Given the description of an element on the screen output the (x, y) to click on. 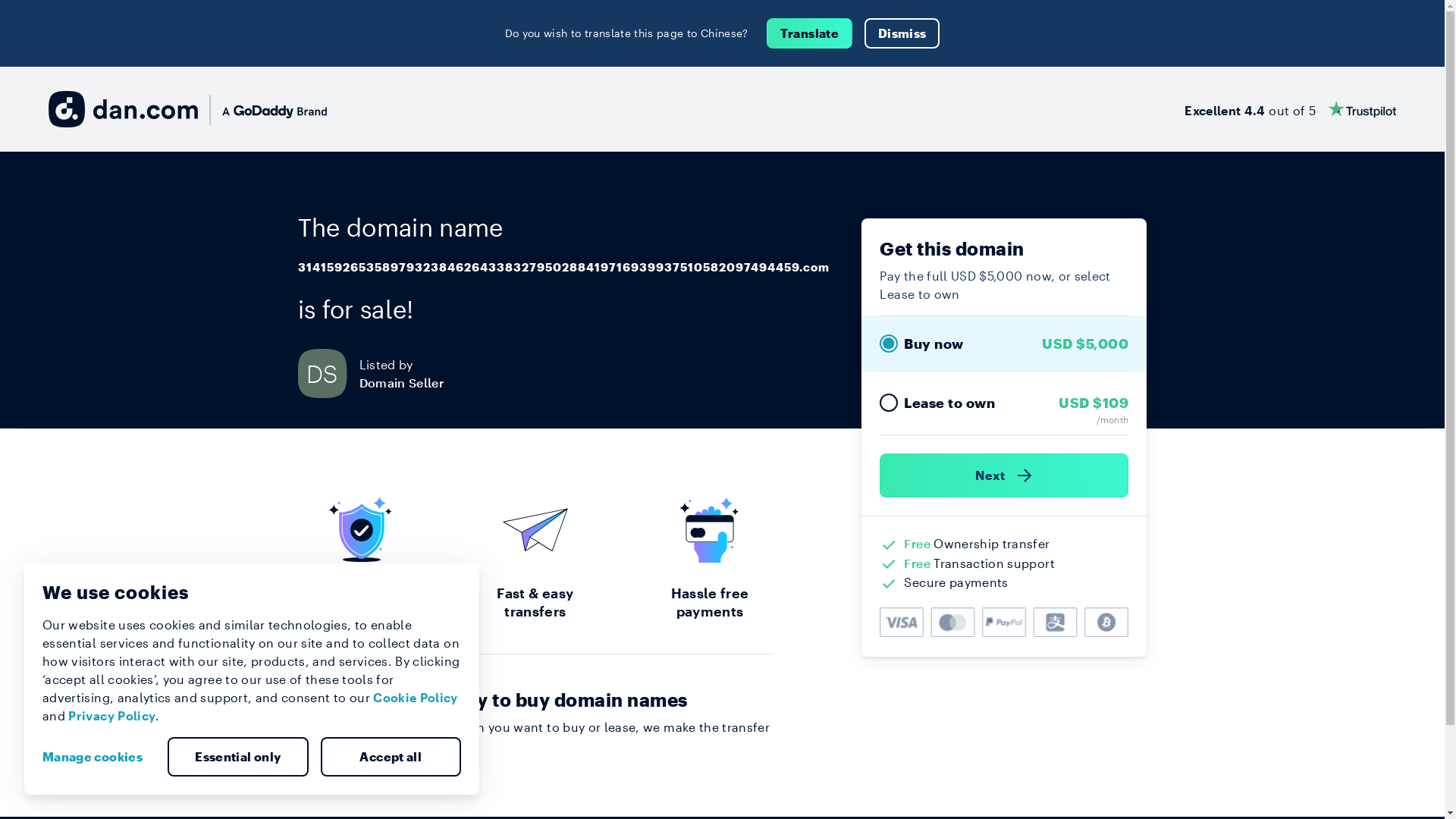
Dismiss Element type: text (901, 33)
Cookie Policy Element type: text (415, 697)
Next
) Element type: text (1003, 475)
Accept all Element type: text (390, 756)
Translate Element type: text (809, 33)
Privacy Policy Element type: text (111, 715)
Excellent 4.4 out of 5 Element type: text (1290, 109)
Essential only Element type: text (237, 756)
Manage cookies Element type: text (98, 756)
